Given the description of an element on the screen output the (x, y) to click on. 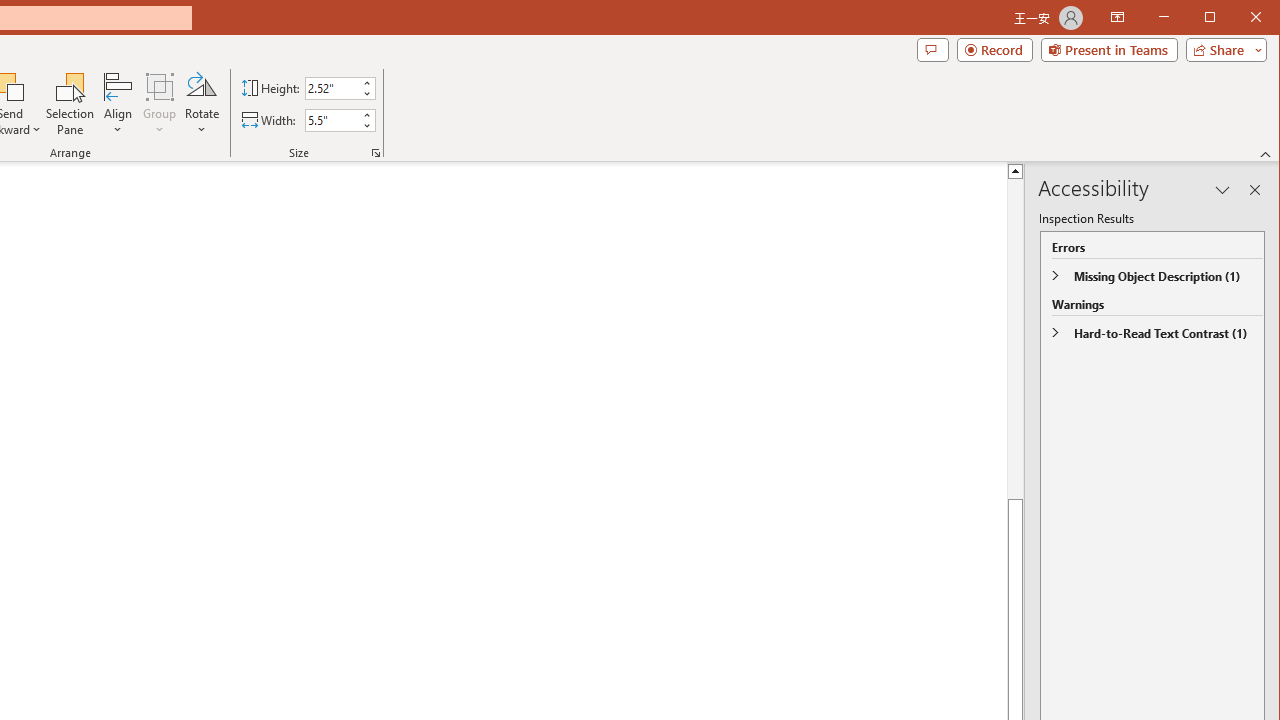
Shape Width (331, 120)
Align (118, 104)
Rotate (201, 104)
